Given the description of an element on the screen output the (x, y) to click on. 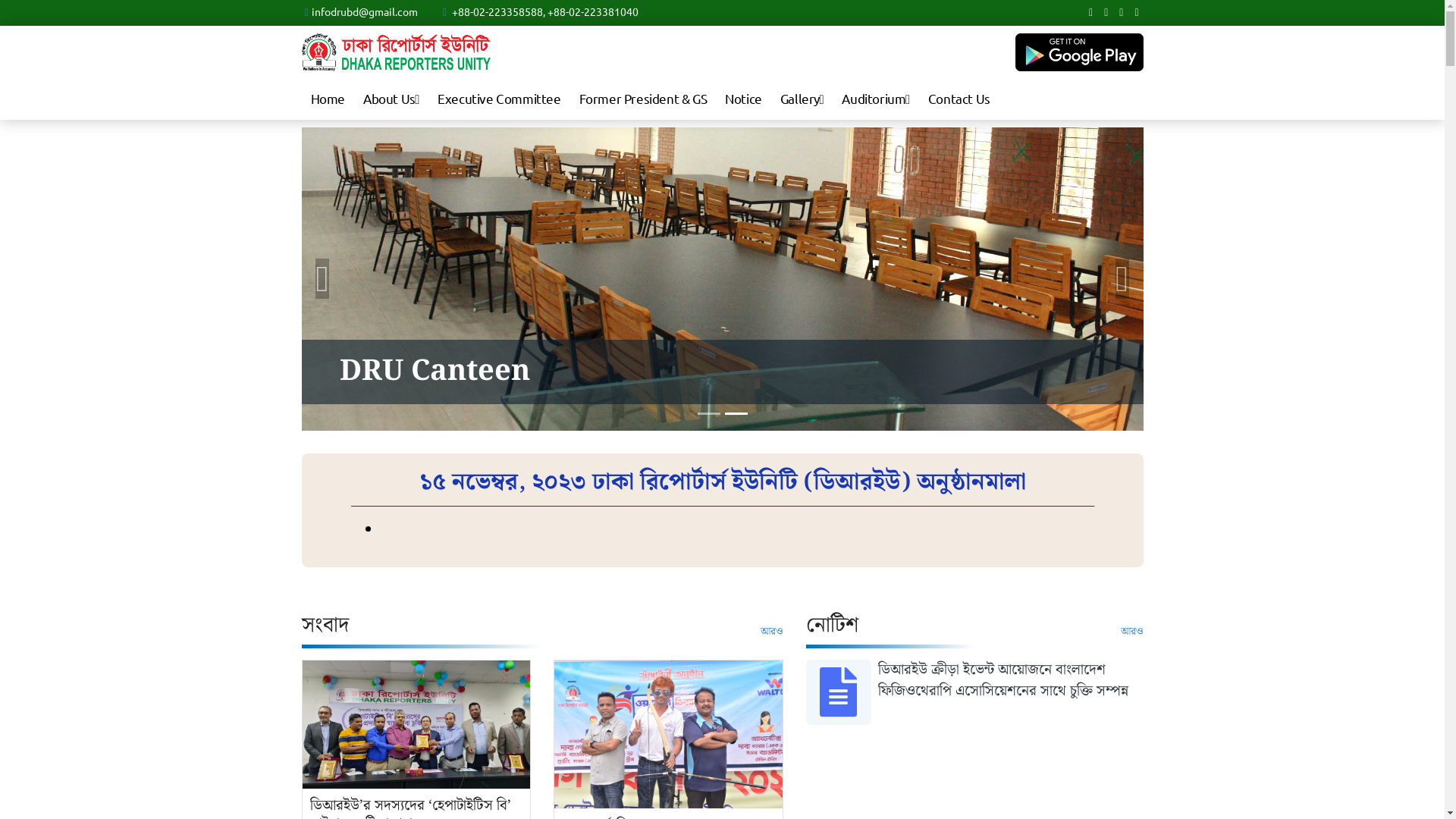
Home Element type: text (327, 98)
Notice Element type: text (743, 98)
Gallery Element type: text (802, 99)
Next Element type: text (1122, 278)
About Us Element type: text (391, 99)
Previous Element type: text (322, 278)
Auditorium Element type: text (875, 99)
Contact Us Element type: text (959, 98)
Former President & GS Element type: text (643, 98)
Executive Committee Element type: text (498, 98)
infodrubd@gmail.com Element type: text (364, 11)
